Given the description of an element on the screen output the (x, y) to click on. 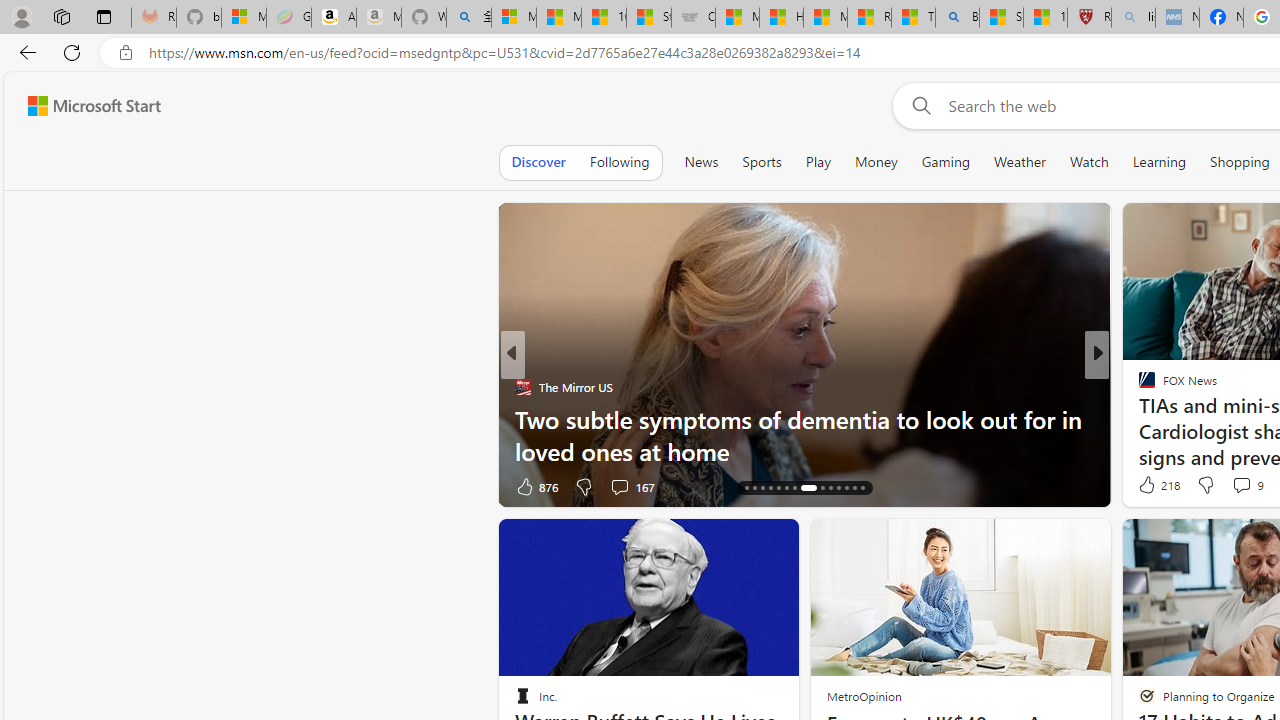
MetroOpinion (863, 696)
View comments 5 Comment (1229, 485)
View comments 9 Comment (1241, 485)
View comments 167 Comment (632, 486)
78 Like (1149, 486)
